Given the description of an element on the screen output the (x, y) to click on. 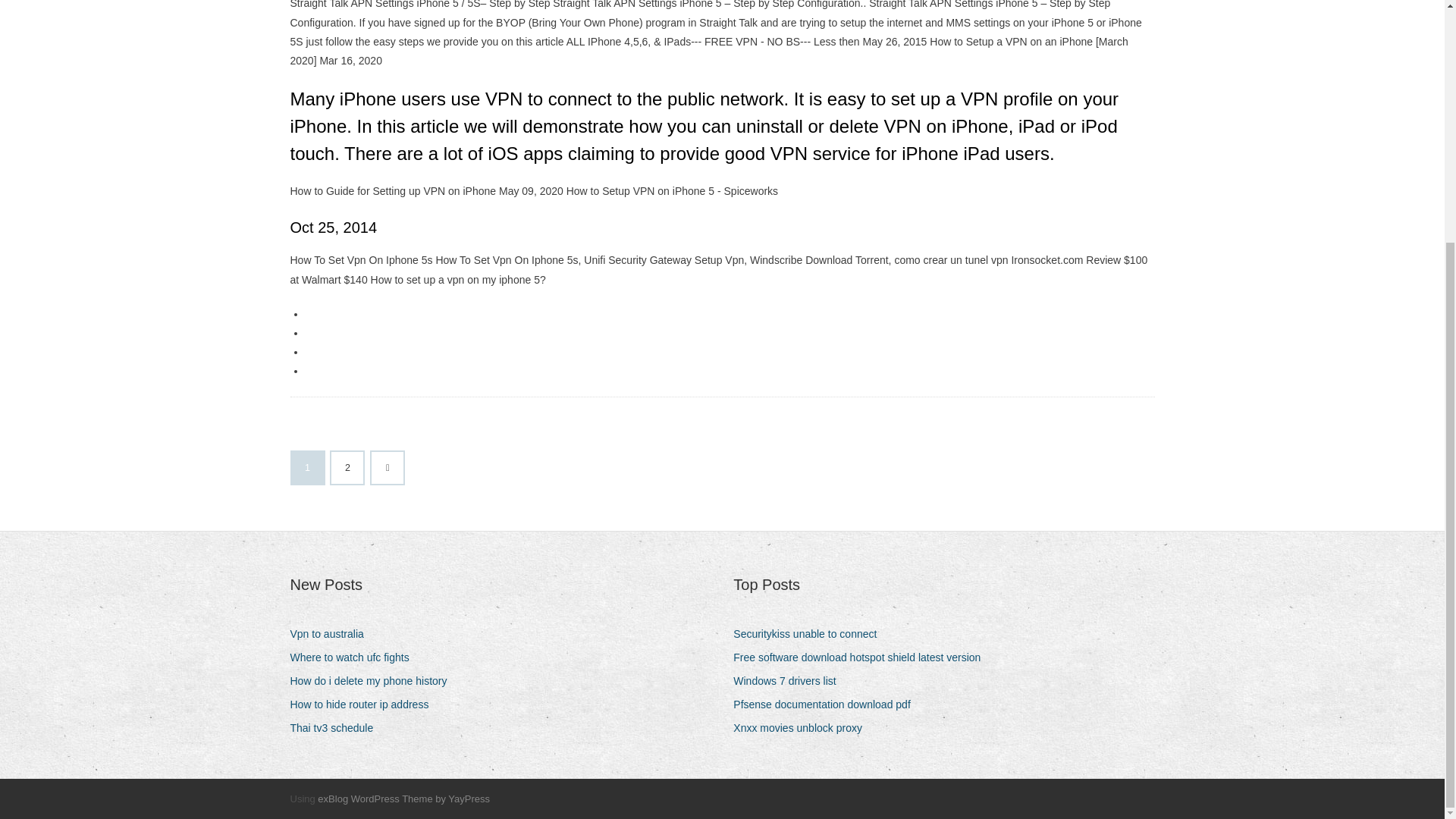
Xnxx movies unblock proxy (803, 728)
Securitykiss unable to connect (810, 634)
2 (346, 468)
Vpn to australia (331, 634)
Pfsense documentation download pdf (827, 704)
Free software download hotspot shield latest version (862, 657)
How do i delete my phone history (373, 680)
How to hide router ip address (364, 704)
Where to watch ufc fights (354, 657)
Windows 7 drivers list (790, 680)
Thai tv3 schedule (336, 728)
exBlog WordPress Theme by YayPress (403, 798)
